Given the description of an element on the screen output the (x, y) to click on. 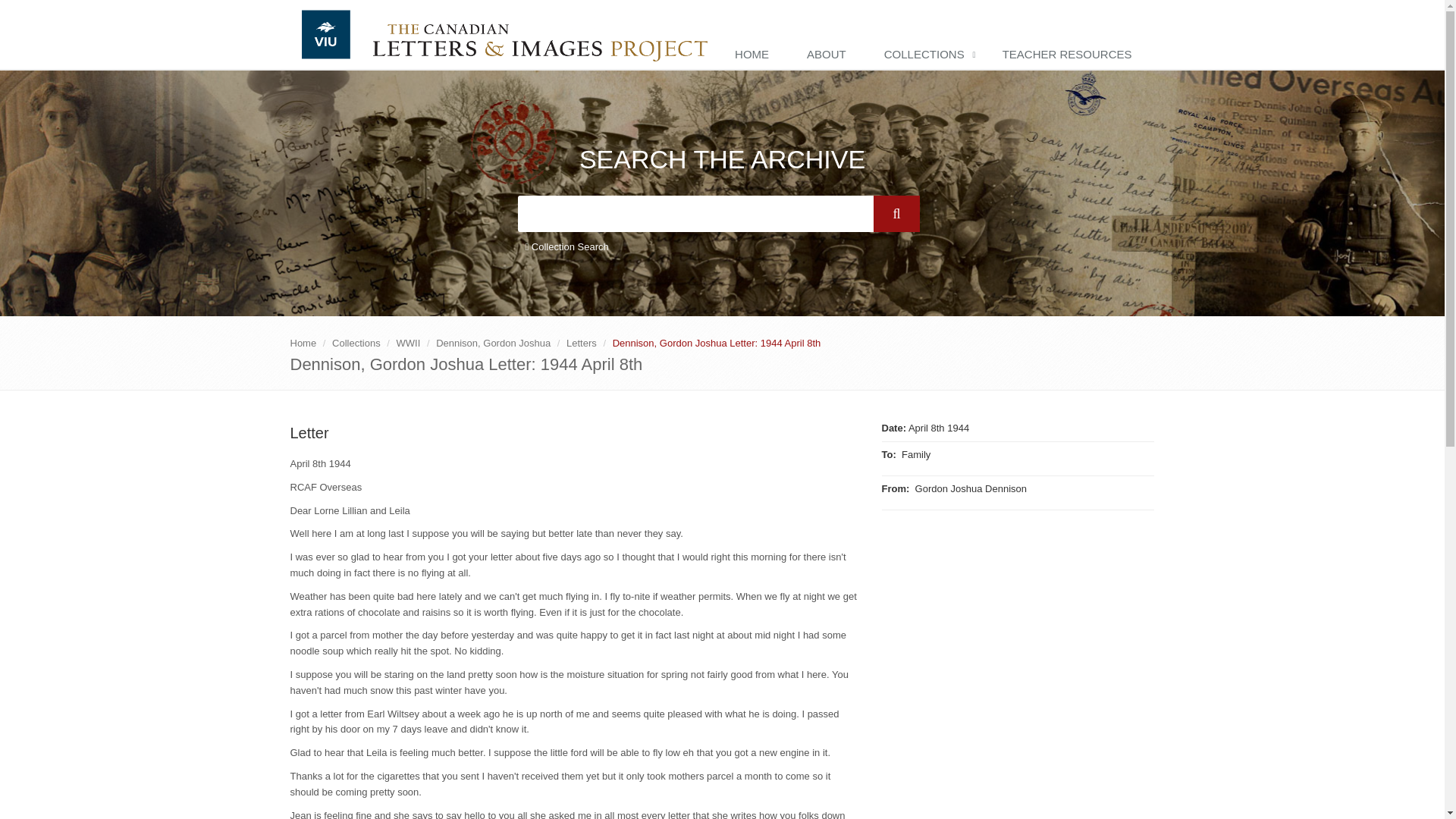
WWII (408, 342)
Letters (581, 342)
Collection Search (566, 247)
Dennison, Gordon Joshua (492, 342)
TEACHER RESOURCES (1070, 55)
Home (302, 342)
ABOUT (830, 55)
Enter the terms you wish to search for. (694, 213)
COLLECTIONS (928, 55)
